Given the description of an element on the screen output the (x, y) to click on. 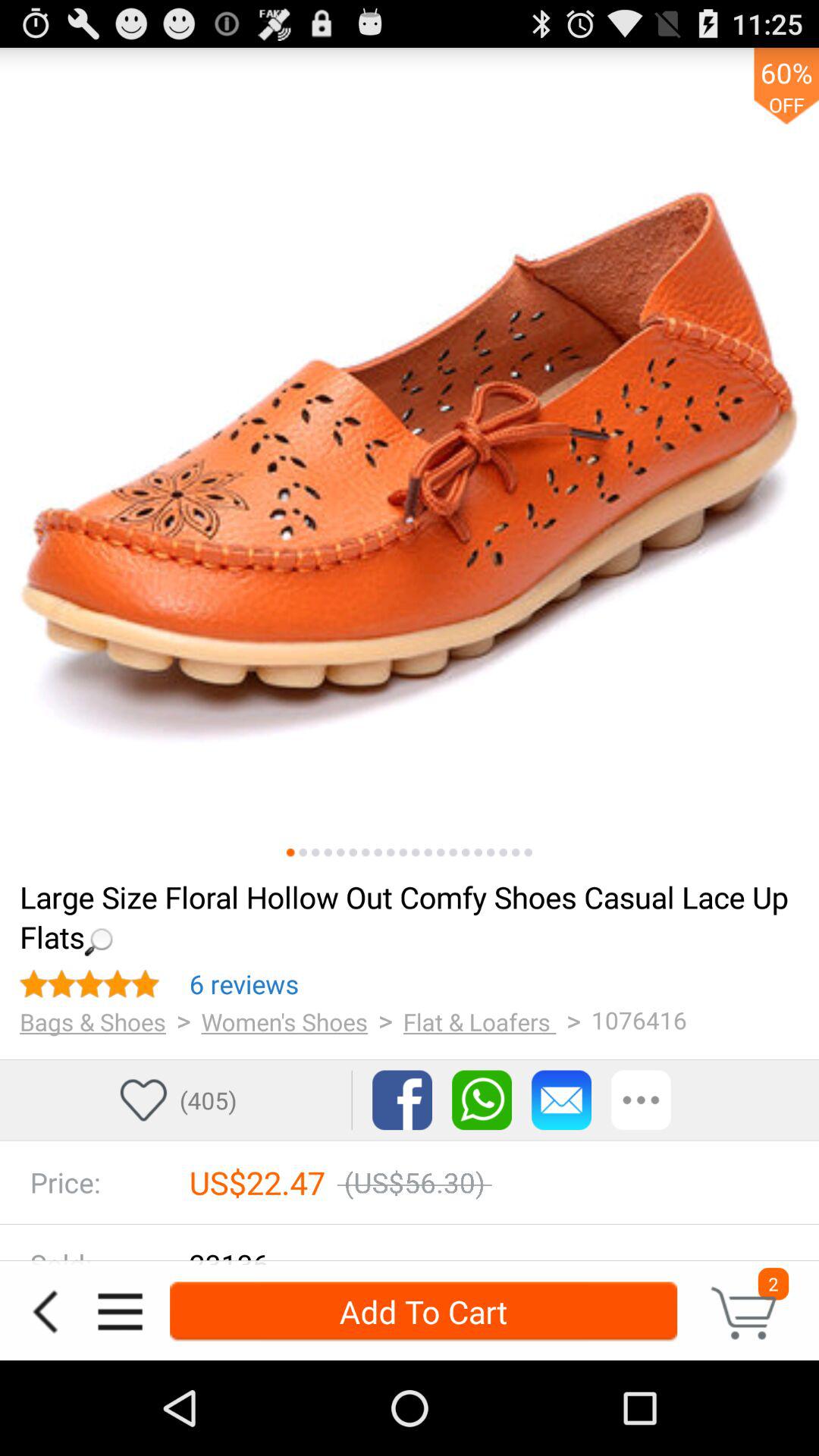
swaps between images (409, 456)
